Given the description of an element on the screen output the (x, y) to click on. 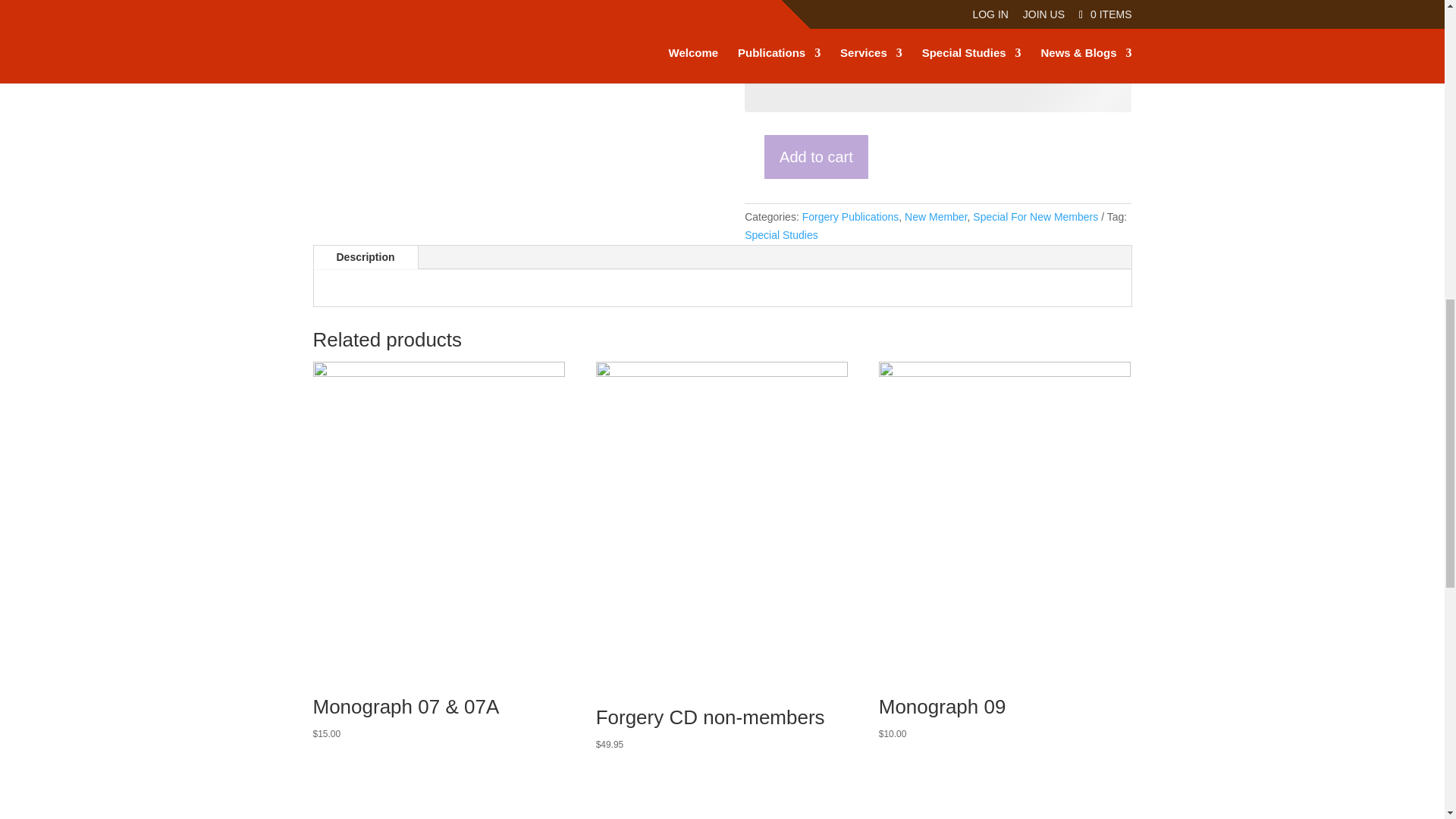
Special For New Members (1034, 216)
Add to cart (815, 156)
Special Studies (781, 234)
Forgery Publications (850, 216)
New Member (935, 216)
